Given the description of an element on the screen output the (x, y) to click on. 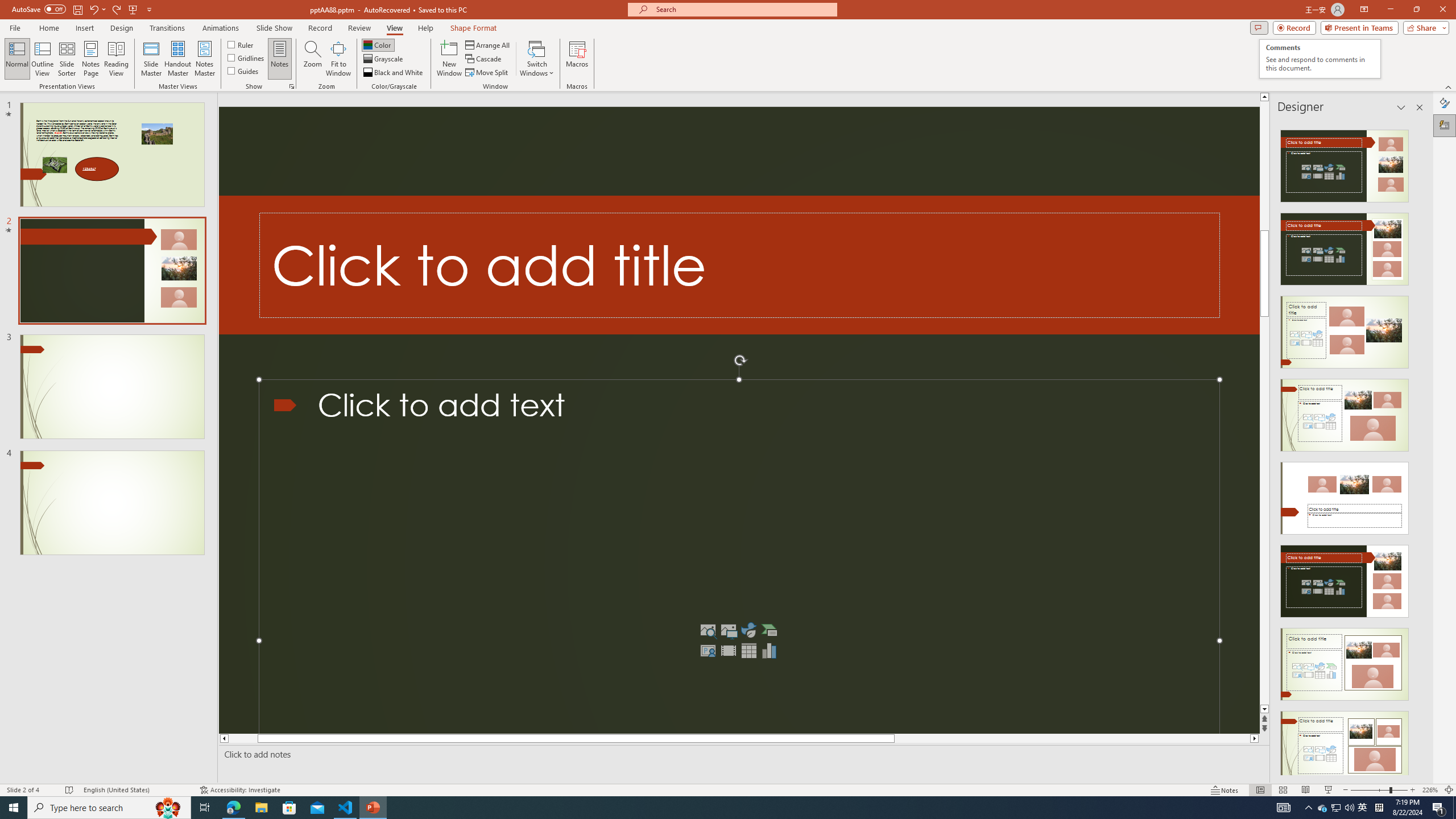
Grid Settings... (291, 85)
Decorative Locked (738, 264)
Cascade (484, 58)
